Given the description of an element on the screen output the (x, y) to click on. 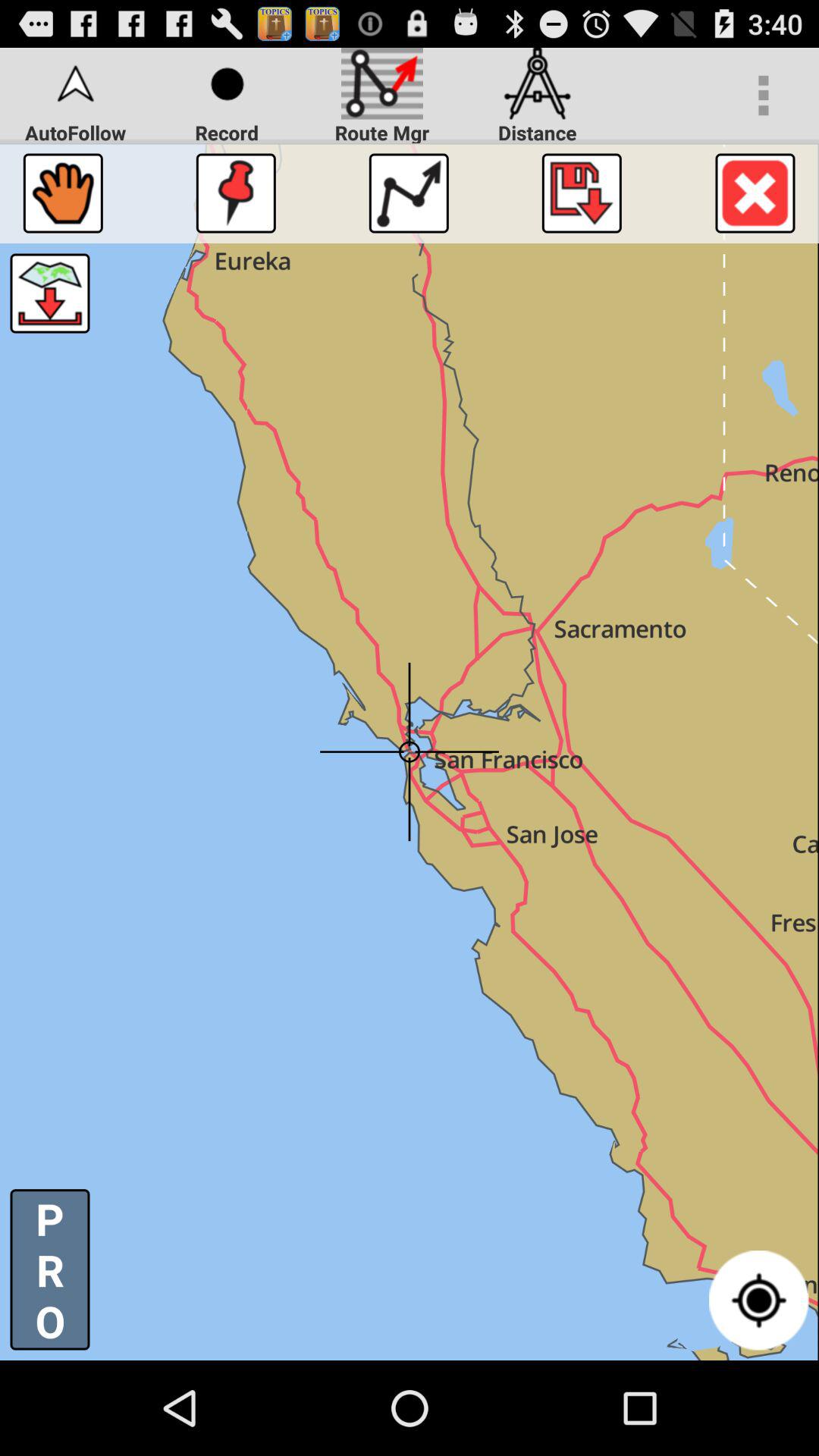
download this map (49, 293)
